Given the description of an element on the screen output the (x, y) to click on. 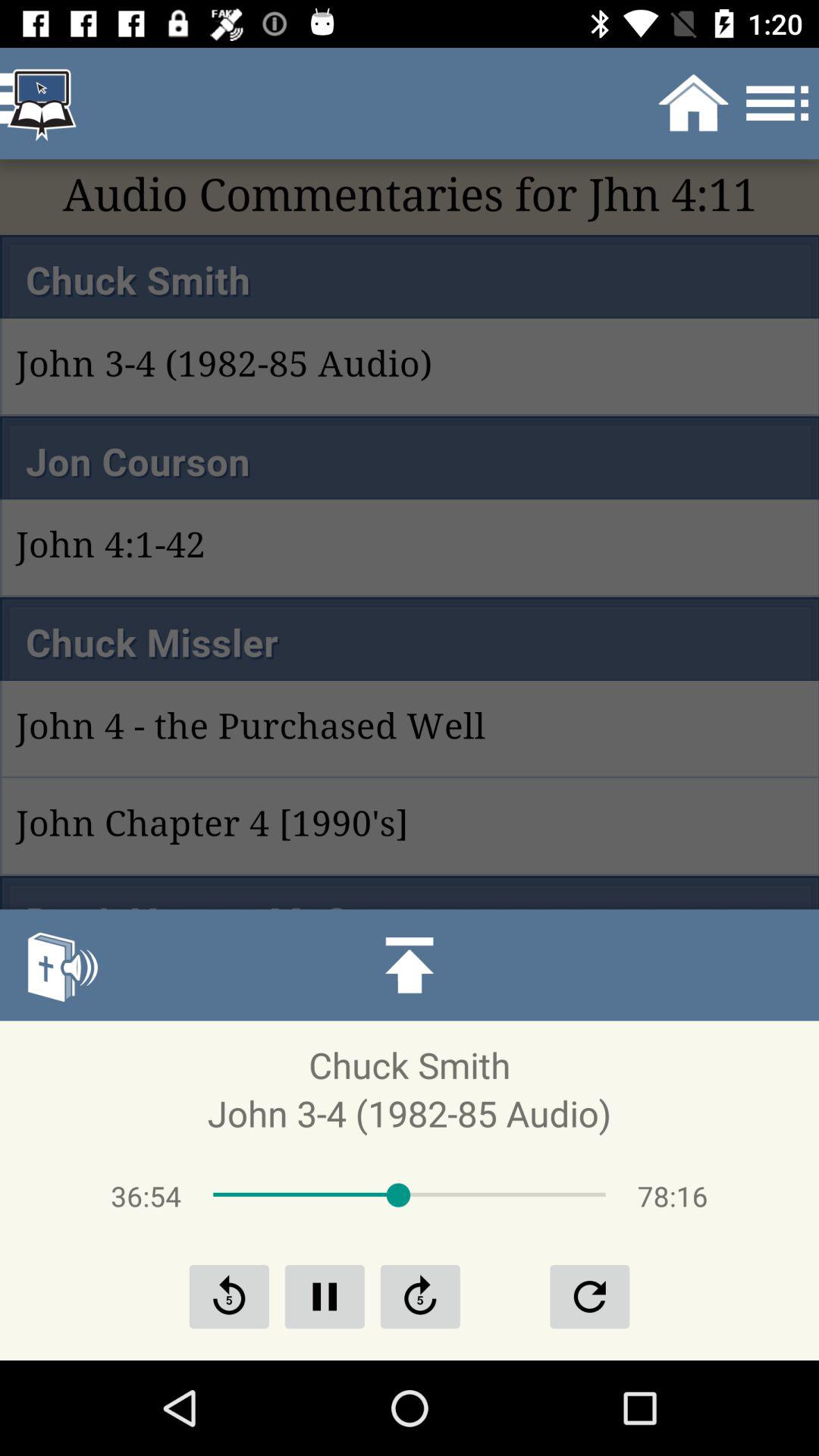
undo button (589, 1296)
